Given the description of an element on the screen output the (x, y) to click on. 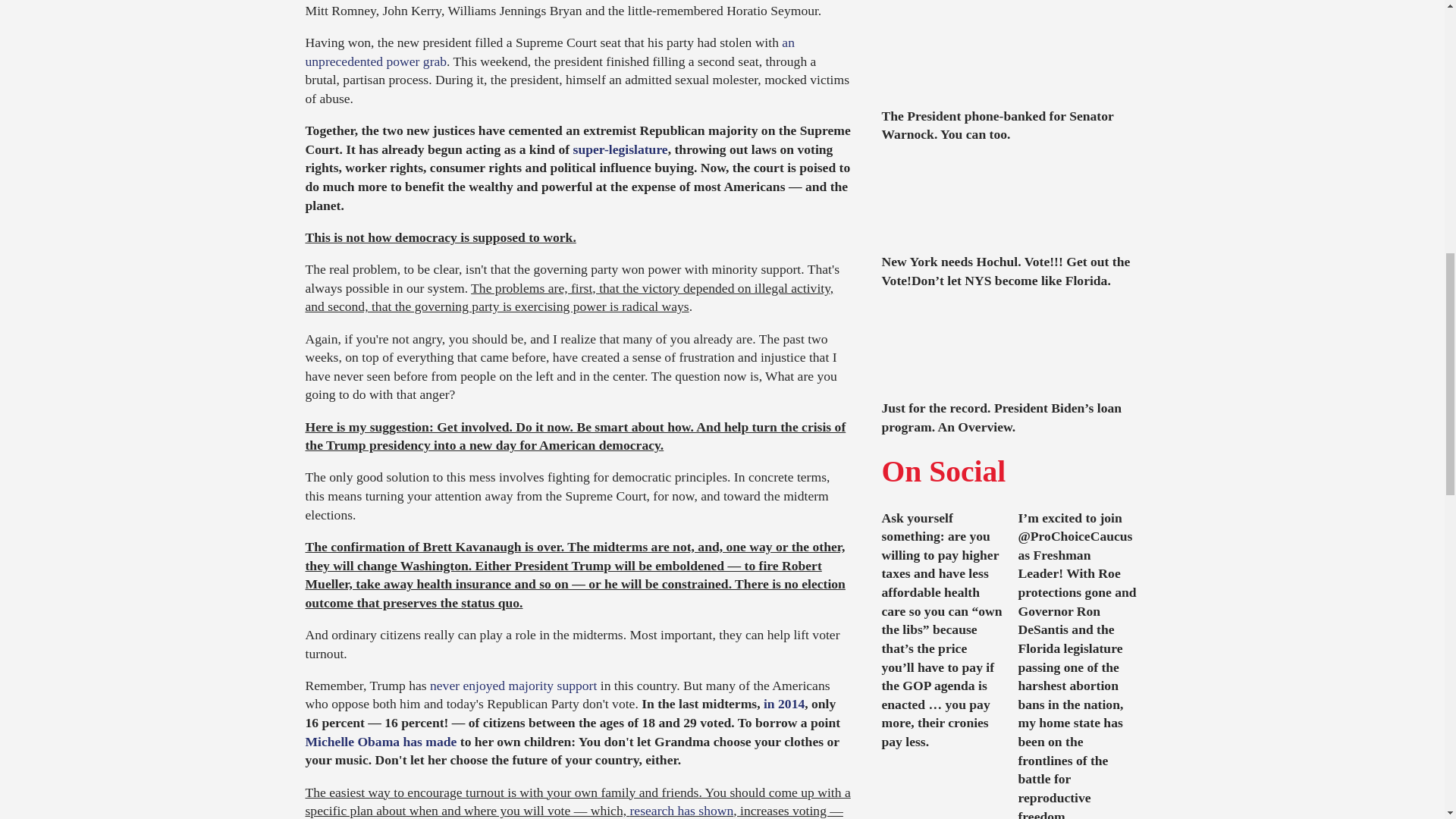
never enjoyed majority support (512, 685)
in 2014 (783, 703)
an unprecedented power grab (548, 51)
Michelle Obama has made (380, 741)
research has shown (680, 810)
super-legislature (620, 149)
